Given the description of an element on the screen output the (x, y) to click on. 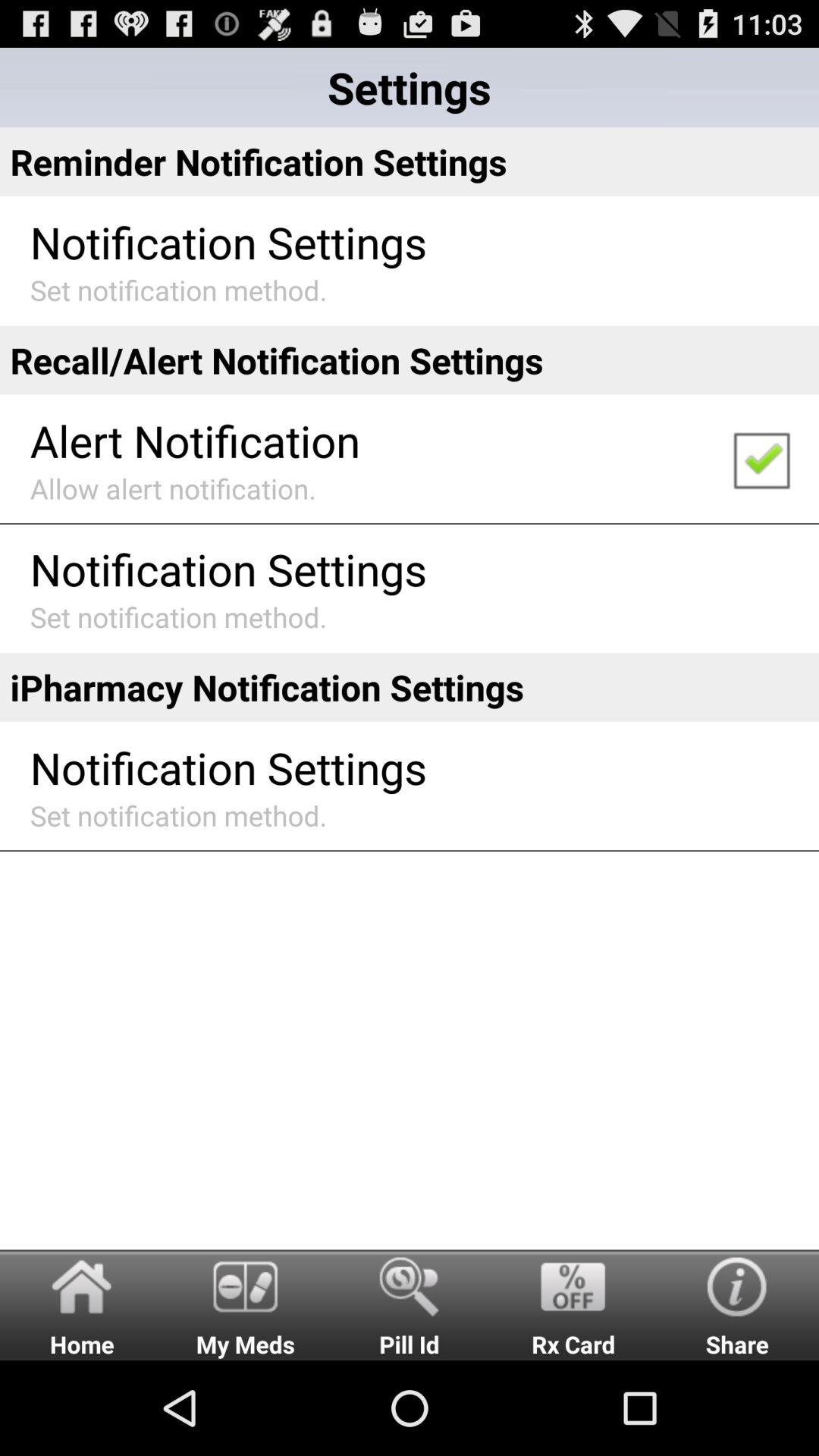
turn off the radio button to the left of share item (573, 1304)
